Given the description of an element on the screen output the (x, y) to click on. 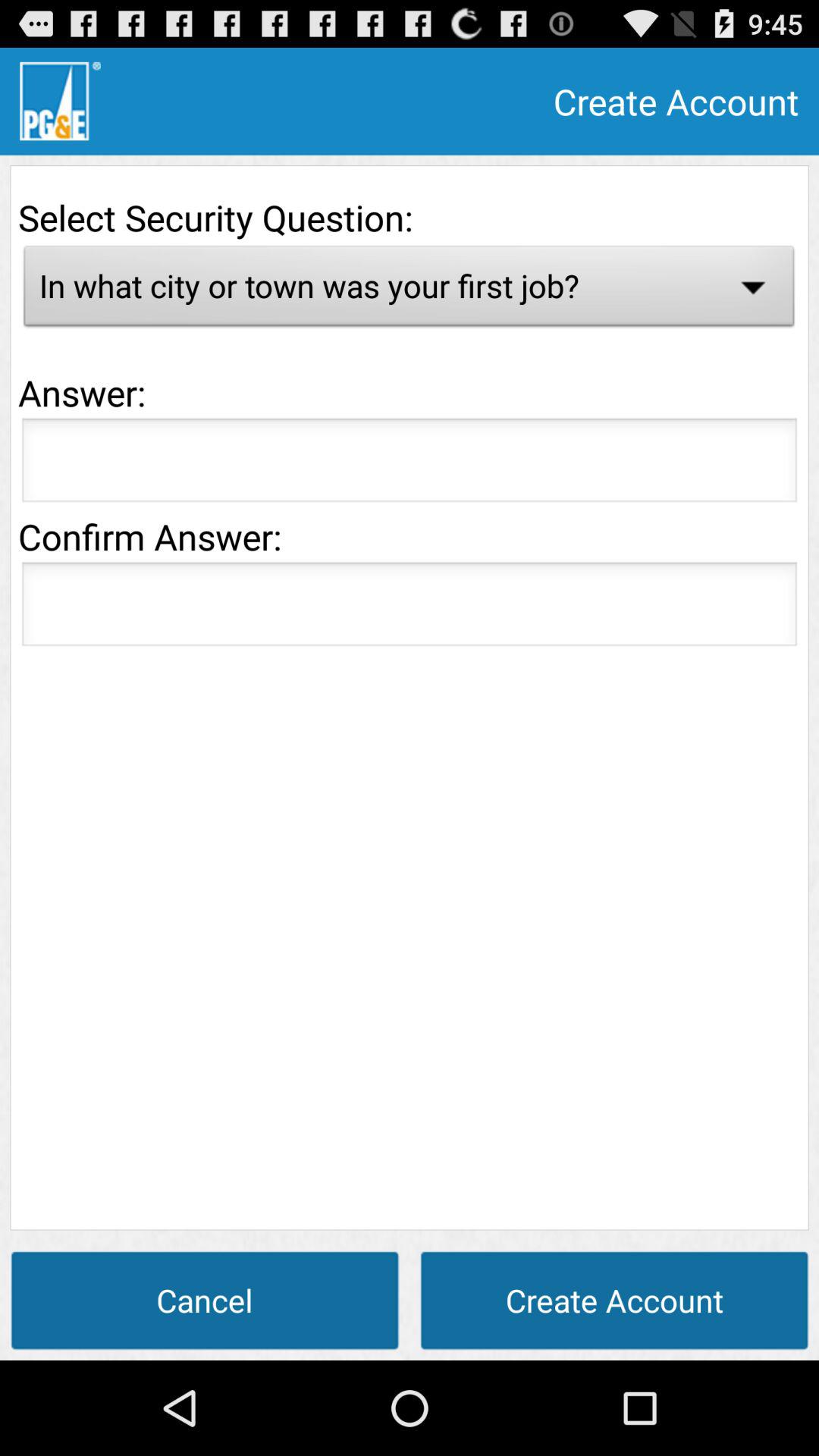
shows empty box (409, 464)
